Given the description of an element on the screen output the (x, y) to click on. 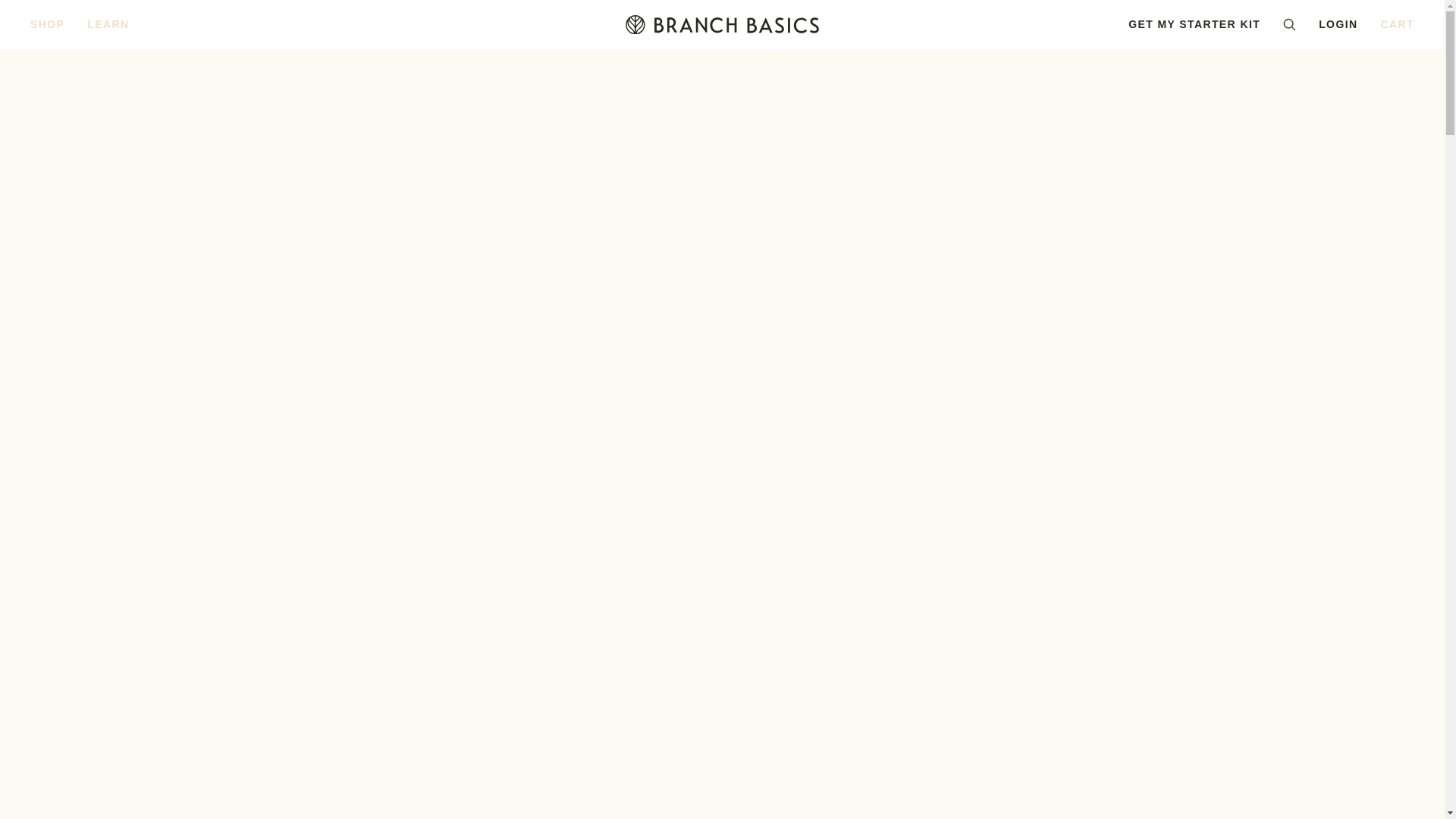
GET MY STARTER KIT (1194, 24)
LOGIN (1337, 24)
LEARN (108, 24)
SHOP (47, 24)
CART (1396, 24)
